Given the description of an element on the screen output the (x, y) to click on. 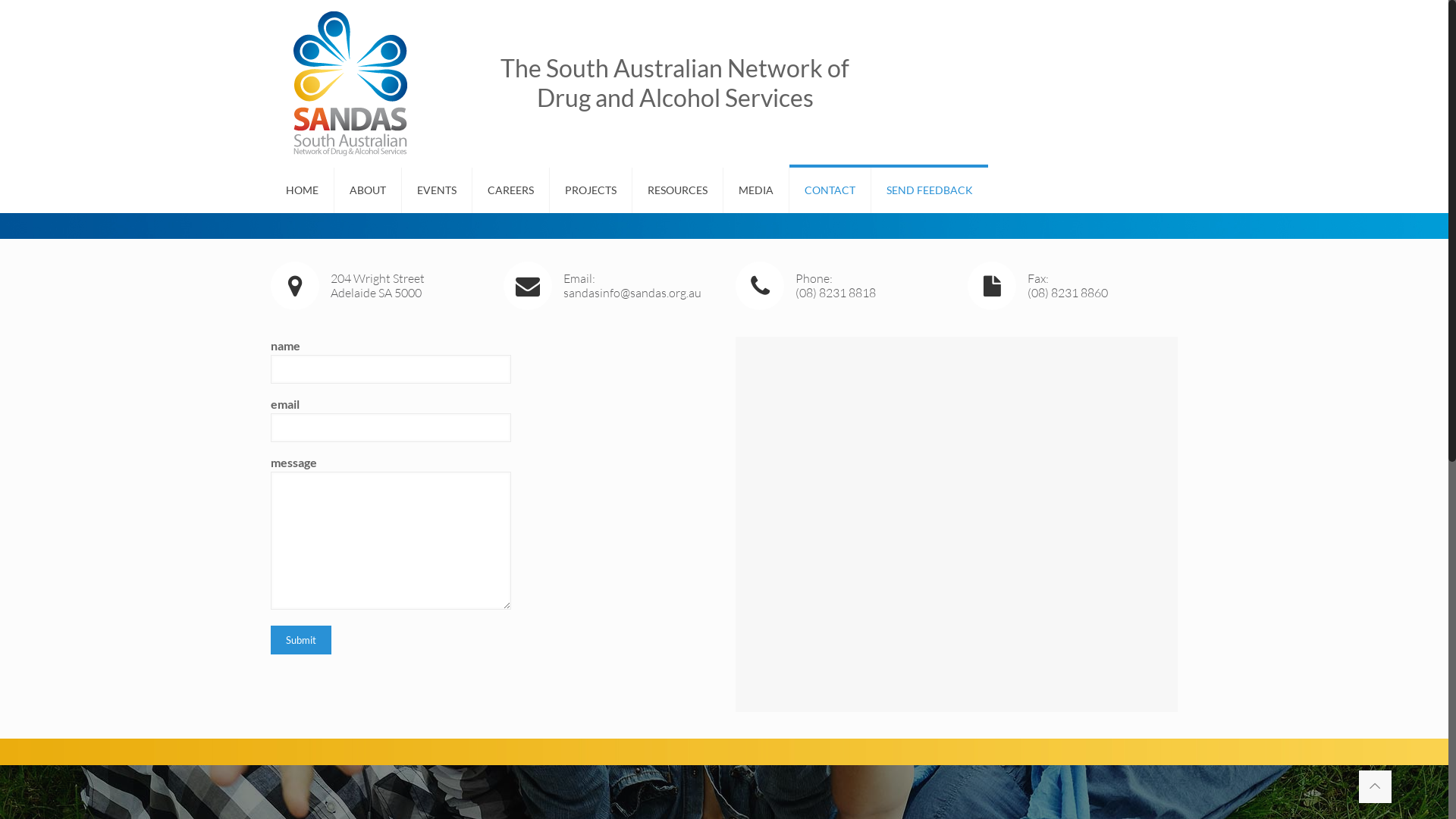
HOME Element type: text (302, 190)
CONTACT Element type: text (830, 190)
MEDIA Element type: text (756, 190)
Email:
sandasinfo@sandas.org.au Element type: text (607, 285)
ABOUT Element type: text (367, 190)
204 Wright Street
Adelaide SA 5000 Element type: text (375, 285)
EVENTS Element type: text (436, 190)
SEND FEEDBACK Element type: text (929, 190)
Submit Element type: text (300, 639)
CAREERS Element type: text (510, 190)
SANDAS Element type: hover (350, 83)
Phone:
(08) 8231 8818 Element type: text (839, 285)
RESOURCES Element type: text (677, 190)
PROJECTS Element type: text (590, 190)
